Given the description of an element on the screen output the (x, y) to click on. 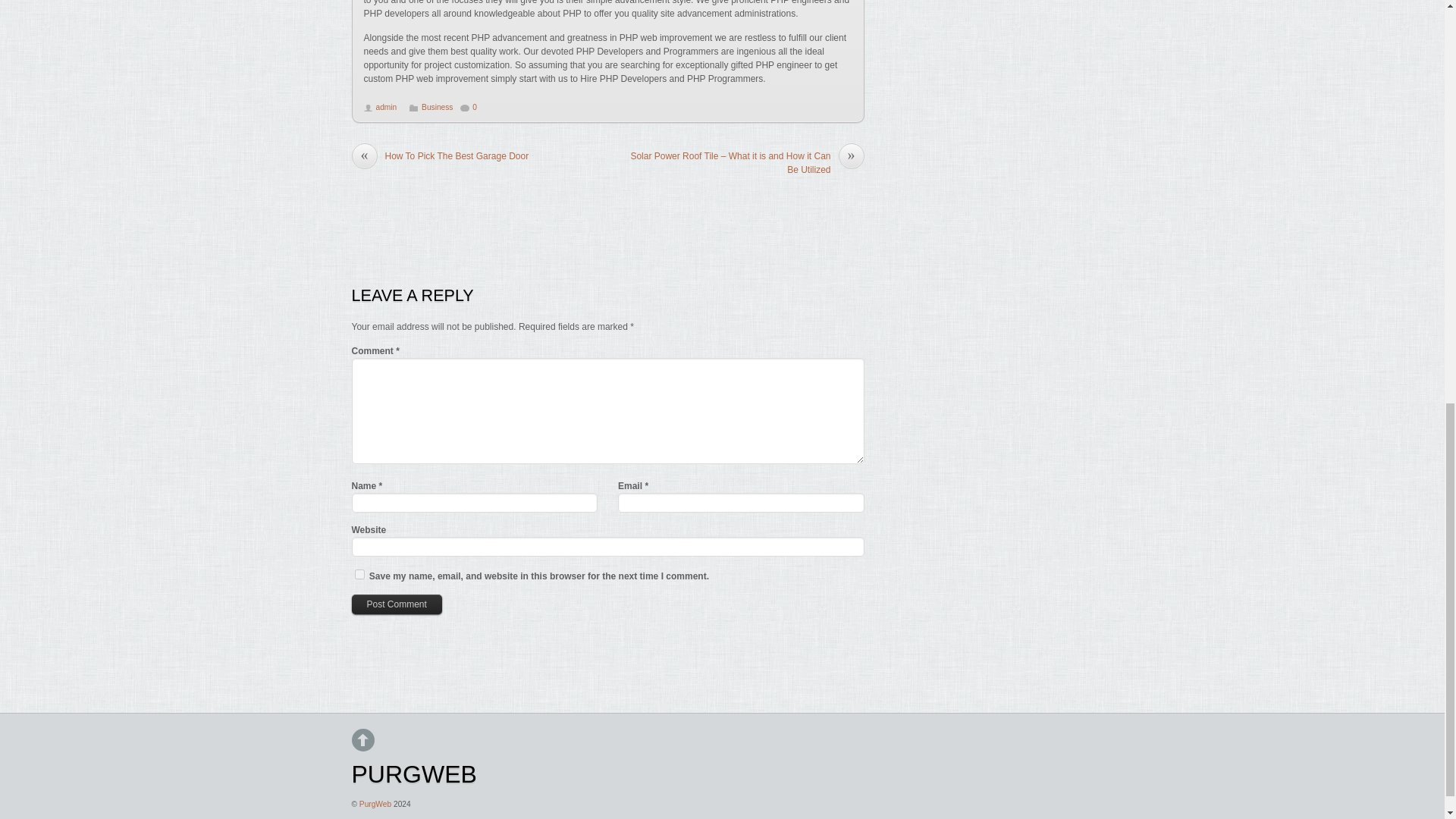
yes (360, 574)
Business (437, 107)
PURGWEB (414, 773)
admin (386, 107)
Post Comment (397, 604)
Post Comment (397, 604)
PurgWeb (414, 773)
PurgWeb (375, 804)
